Given the description of an element on the screen output the (x, y) to click on. 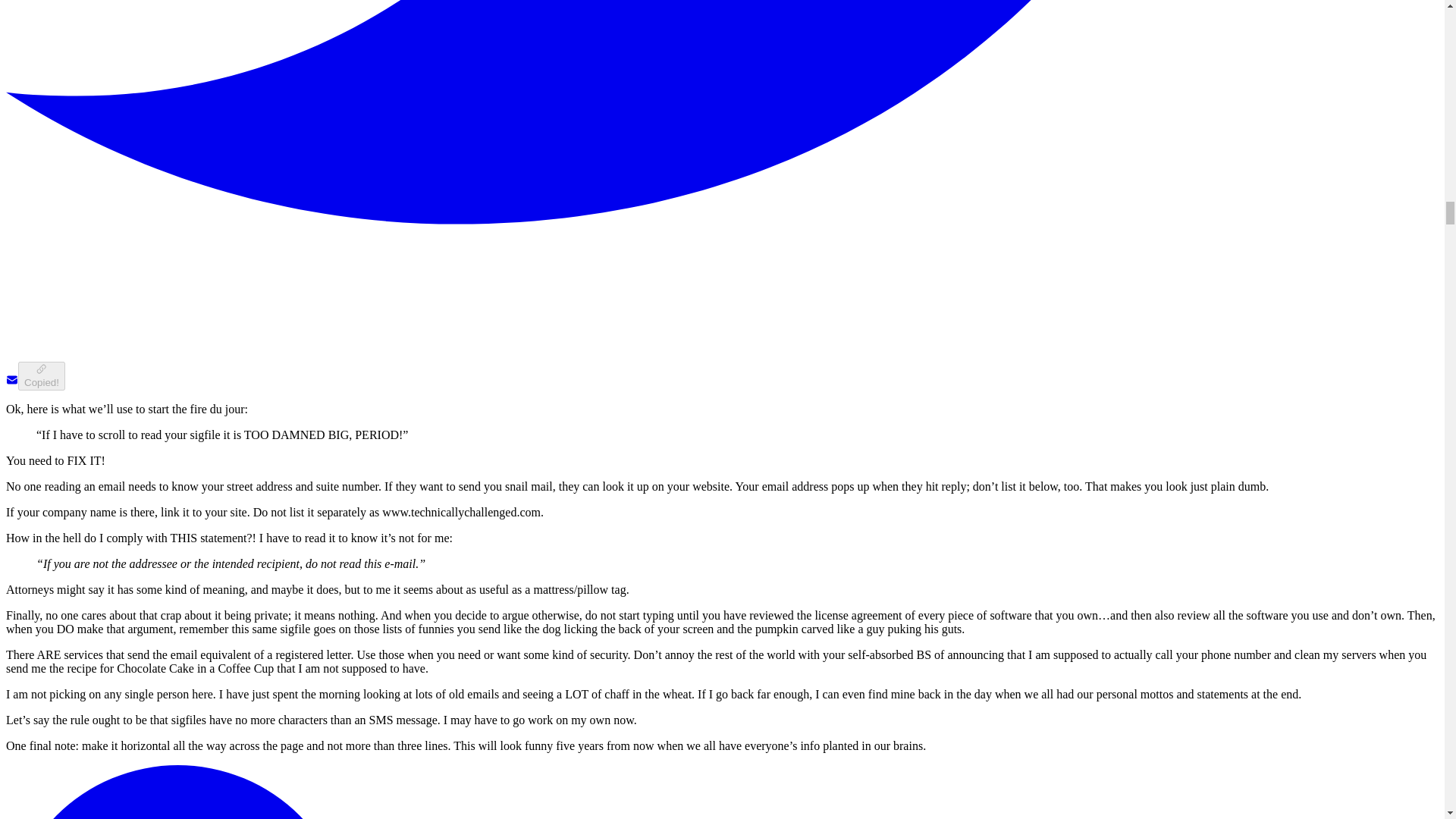
Copied! (41, 375)
